Given the description of an element on the screen output the (x, y) to click on. 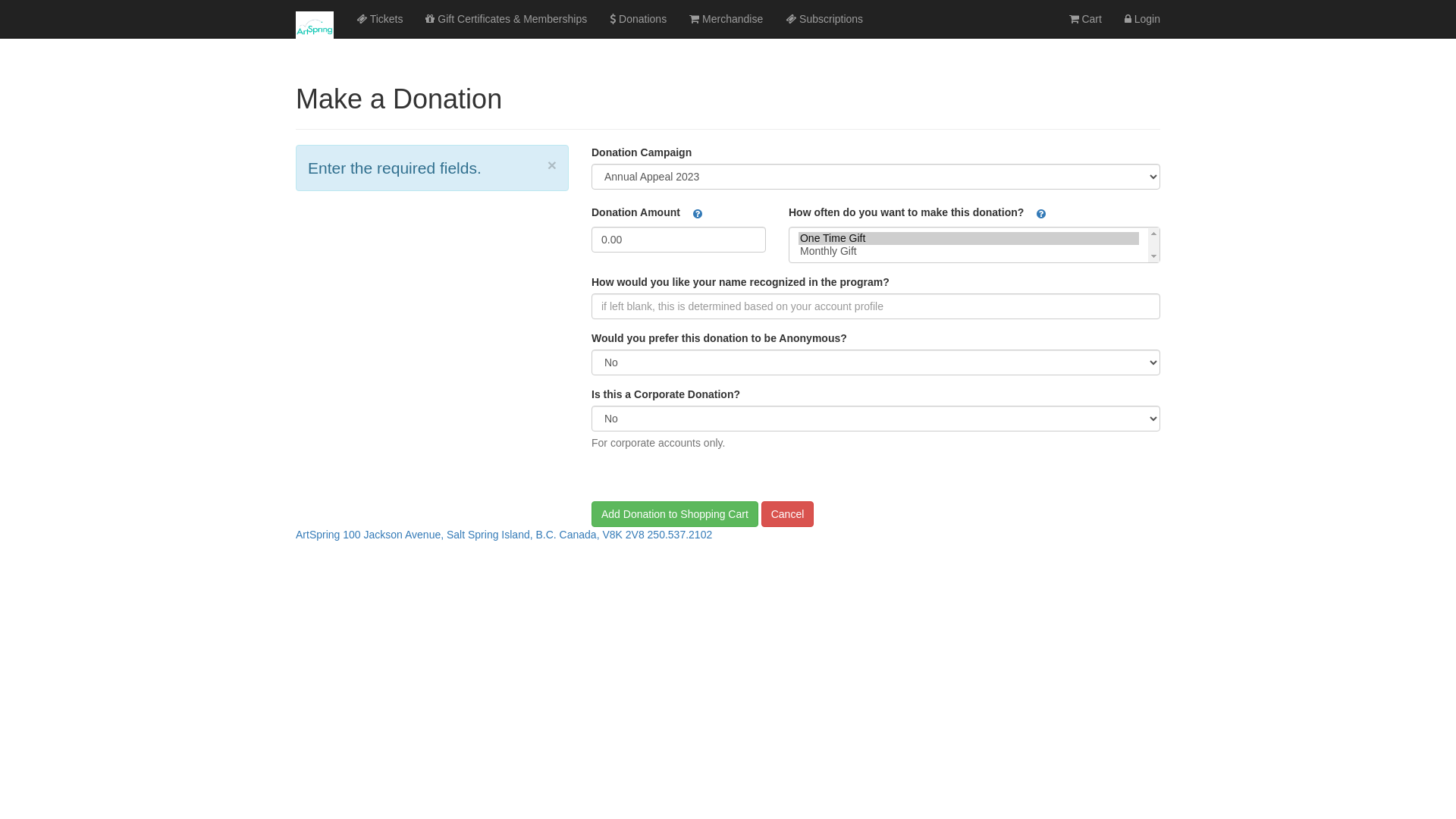
Login Element type: text (1142, 18)
Cancel Element type: text (787, 514)
Cart Element type: text (1084, 18)
Donations Element type: text (637, 18)
Subscriptions Element type: text (824, 18)
Tickets Element type: text (379, 18)
Add Donation to Shopping Cart Element type: text (674, 514)
Merchandise Element type: text (725, 18)
Gift Certificates & Memberships Element type: text (506, 18)
